Given the description of an element on the screen output the (x, y) to click on. 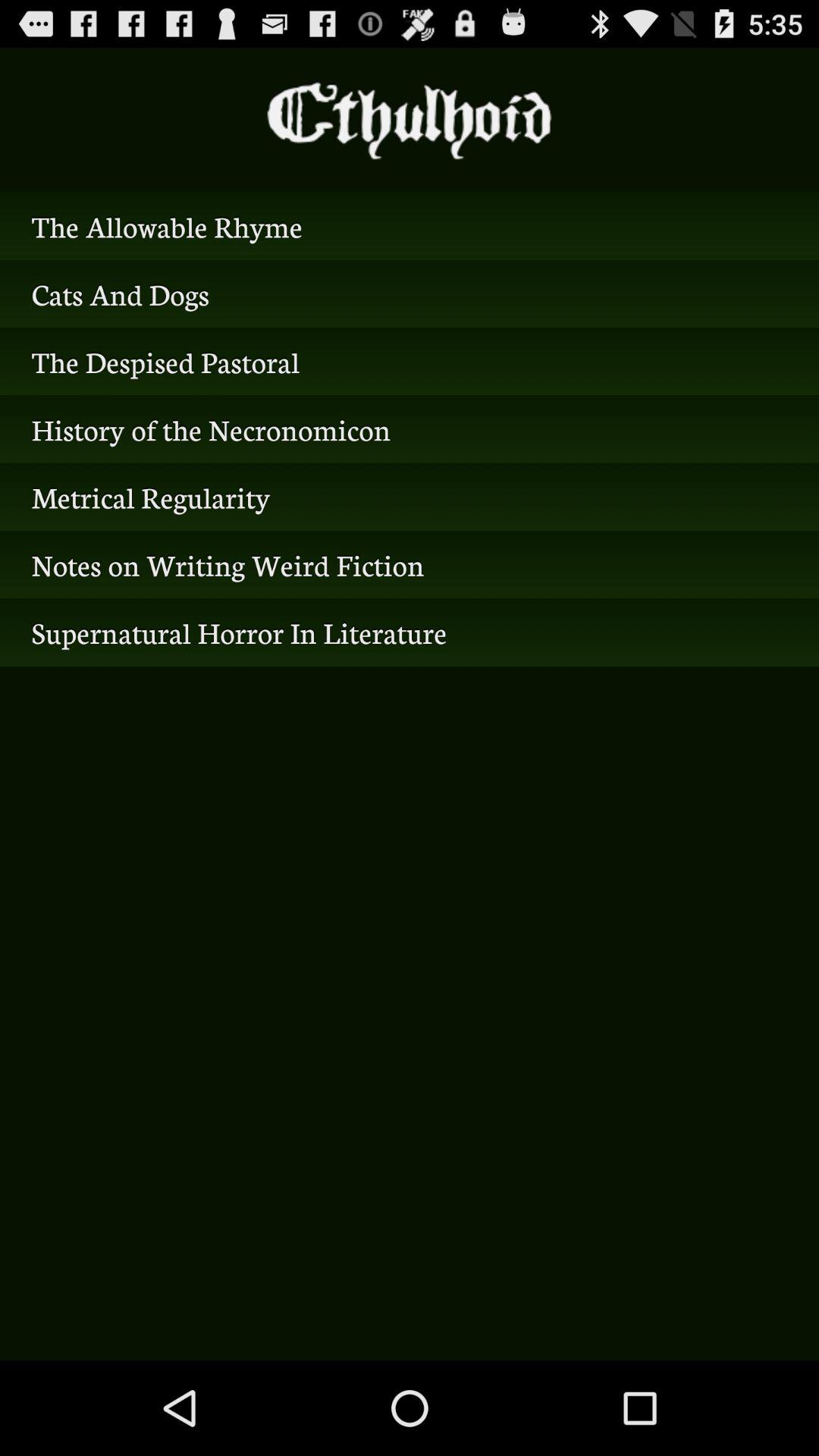
launch the item above the history of the item (409, 361)
